Given the description of an element on the screen output the (x, y) to click on. 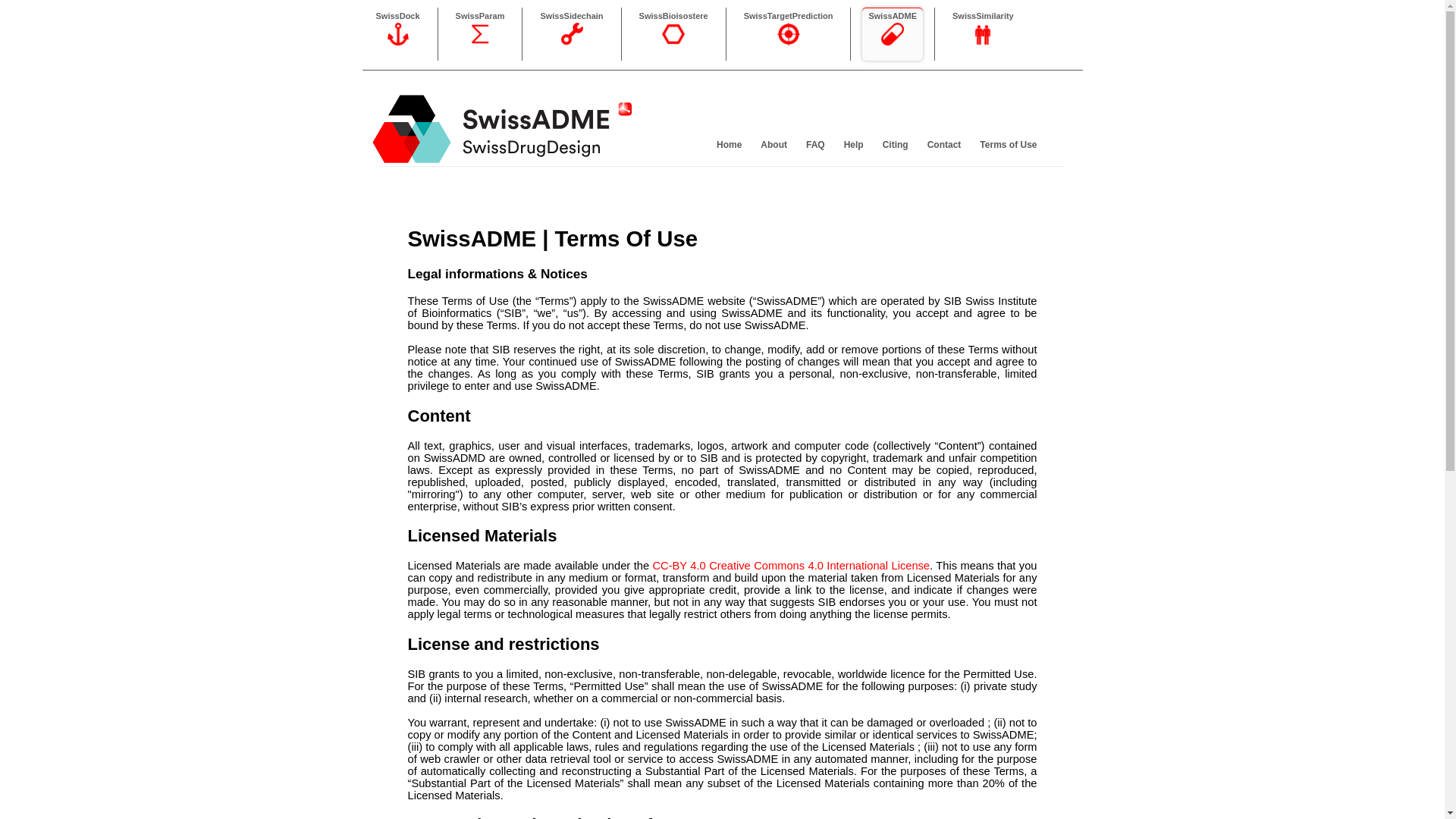
Perform ligand-based screening (982, 41)
Citing (892, 143)
Target prediction for bioactive small molecules (788, 41)
FAQ (813, 143)
Terms of Use (1005, 143)
SwissDock (397, 15)
Docking of small molecules into protein active sites (397, 15)
SwissTargetPrediction (788, 15)
Contact (942, 143)
SwissADME (892, 15)
About (771, 143)
